Given the description of an element on the screen output the (x, y) to click on. 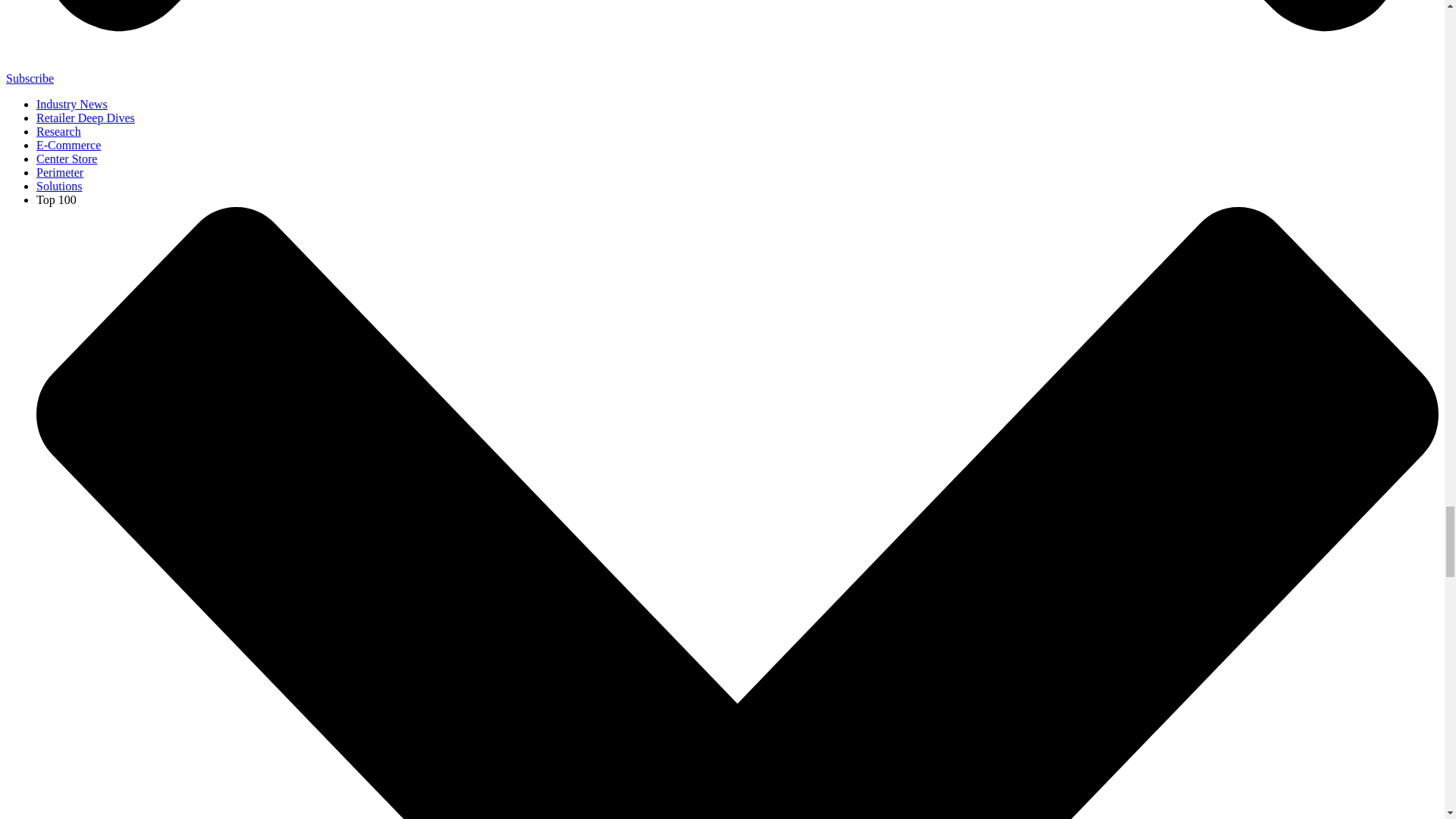
Top 100 (56, 199)
Subscribe (29, 78)
E-Commerce (68, 144)
Research (58, 131)
Retailer Deep Dives (85, 117)
Perimeter (59, 172)
Center Store (66, 158)
Solutions (58, 185)
Industry News (71, 103)
